Given the description of an element on the screen output the (x, y) to click on. 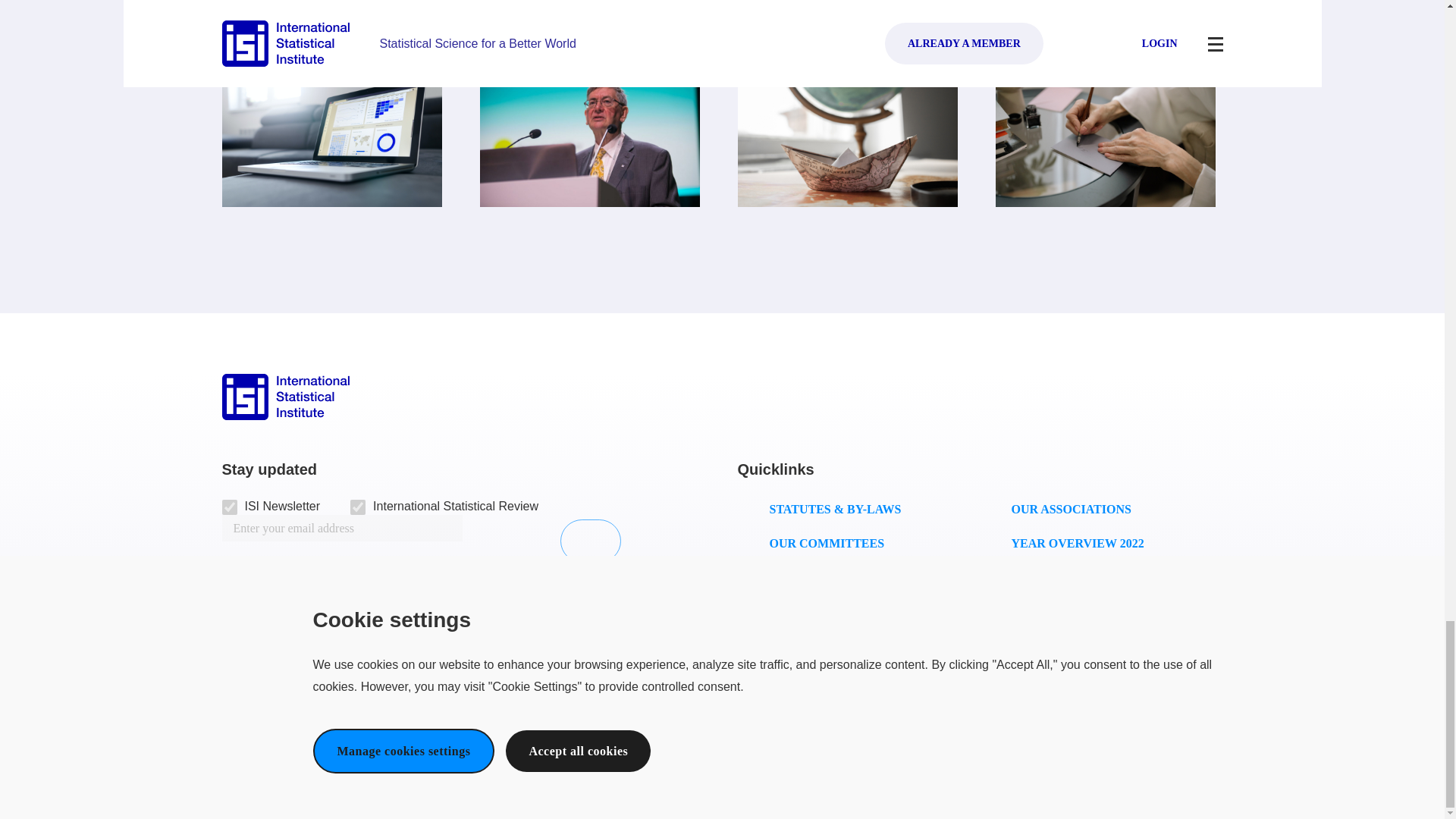
1 (228, 507)
2 (357, 507)
